Given the description of an element on the screen output the (x, y) to click on. 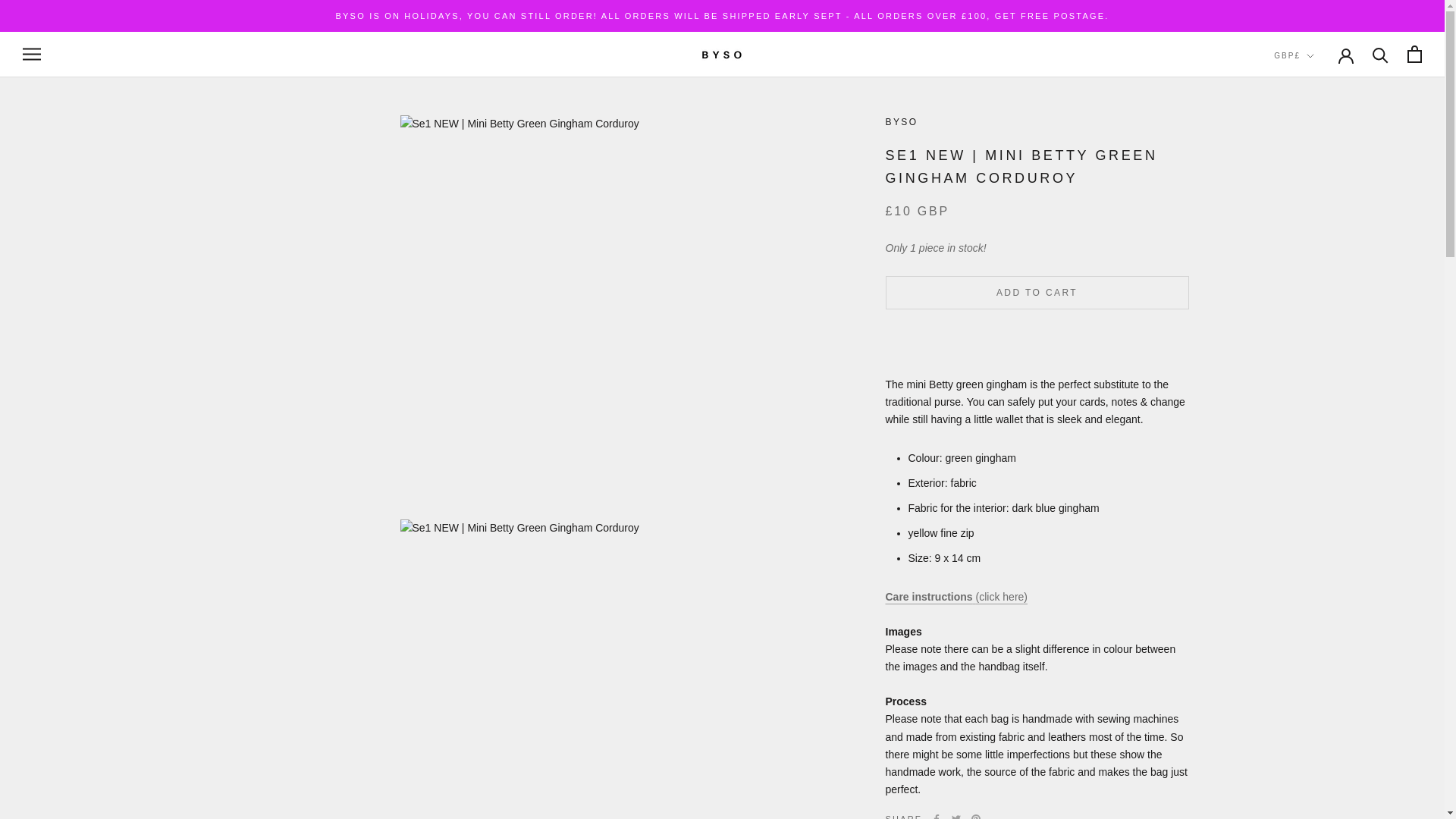
EUR (1321, 249)
MKD (1321, 369)
Care instructions (956, 596)
CZK (1321, 209)
HUF (1321, 308)
SEK (1321, 449)
ISK (1321, 329)
CAD (1321, 168)
MDL (1321, 349)
USD (1321, 469)
